Given the description of an element on the screen output the (x, y) to click on. 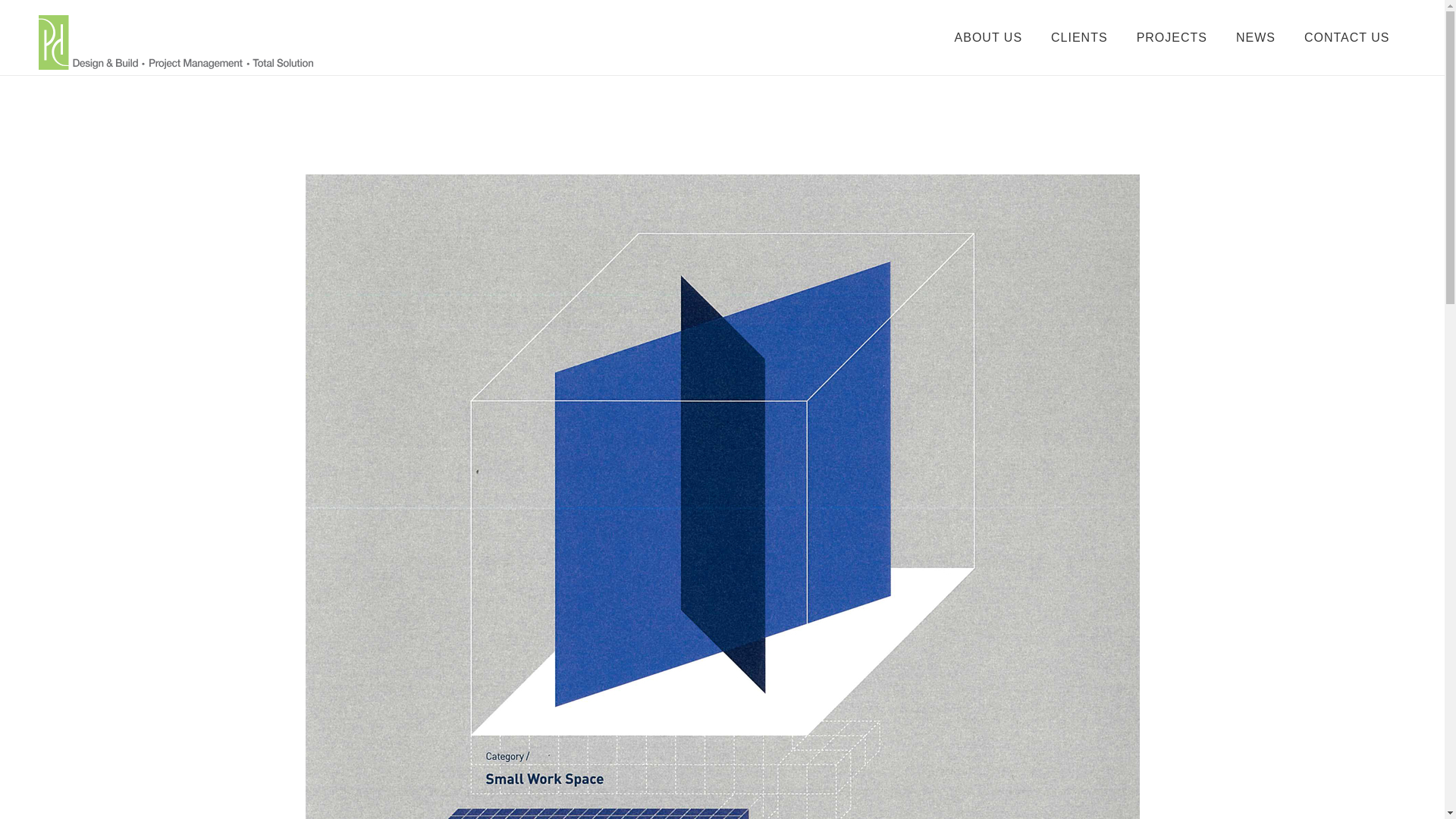
CLIENTS (1079, 37)
ABOUT US (988, 37)
PROJECTS (1171, 37)
NEWS (1255, 37)
CONTACT US (1347, 37)
